Given the description of an element on the screen output the (x, y) to click on. 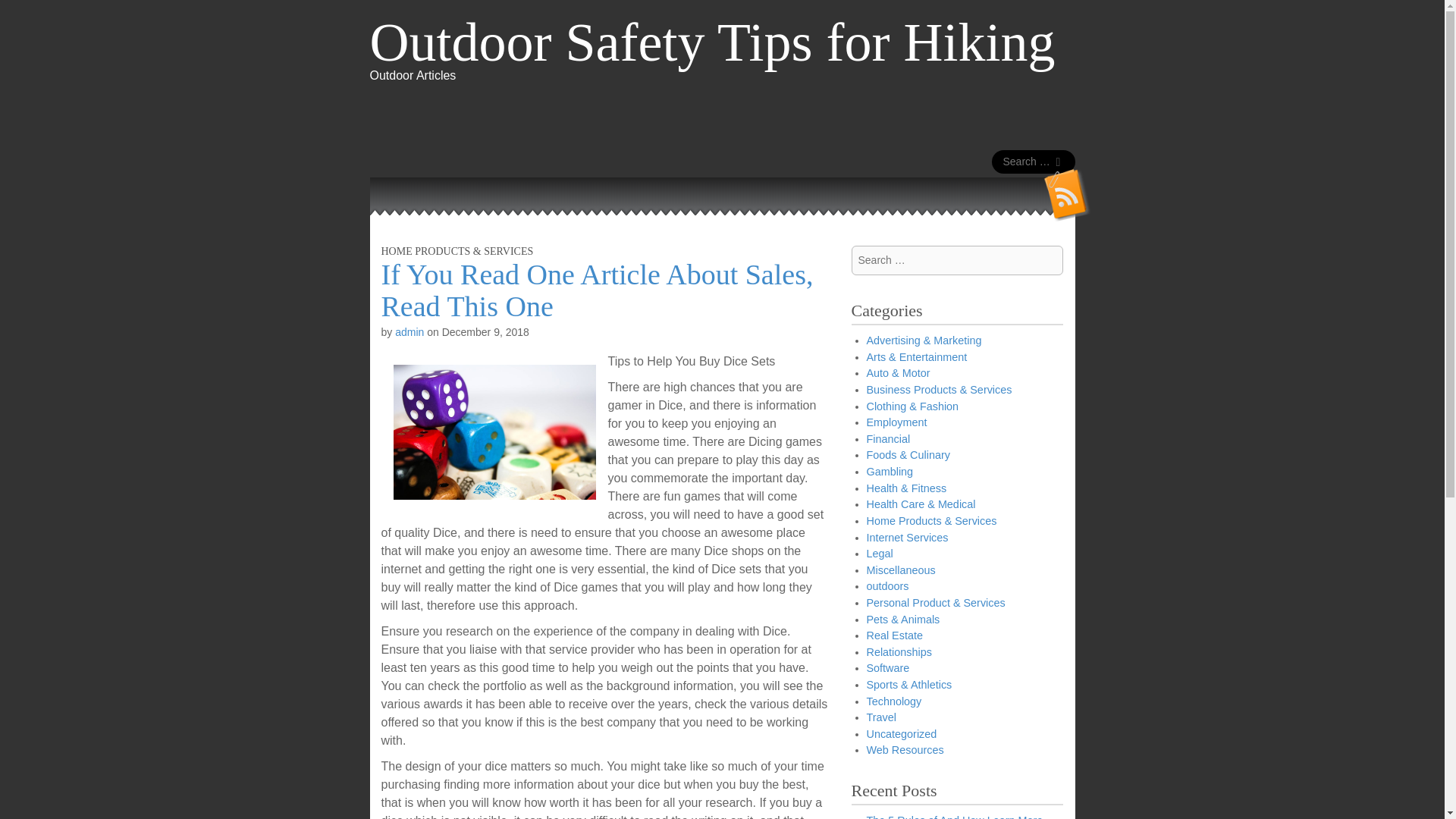
Gambling (889, 471)
Employment (896, 422)
Relationships (898, 652)
Technology (893, 701)
December 9, 2018 (485, 331)
Uncategorized (901, 734)
Financial (888, 439)
Real Estate (893, 635)
Posts by admin (408, 331)
Travel (880, 717)
Internet Services (906, 536)
Outdoor Safety Tips for Hiking (712, 42)
Search (23, 14)
Outdoor Safety Tips for Hiking (712, 42)
